Given the description of an element on the screen output the (x, y) to click on. 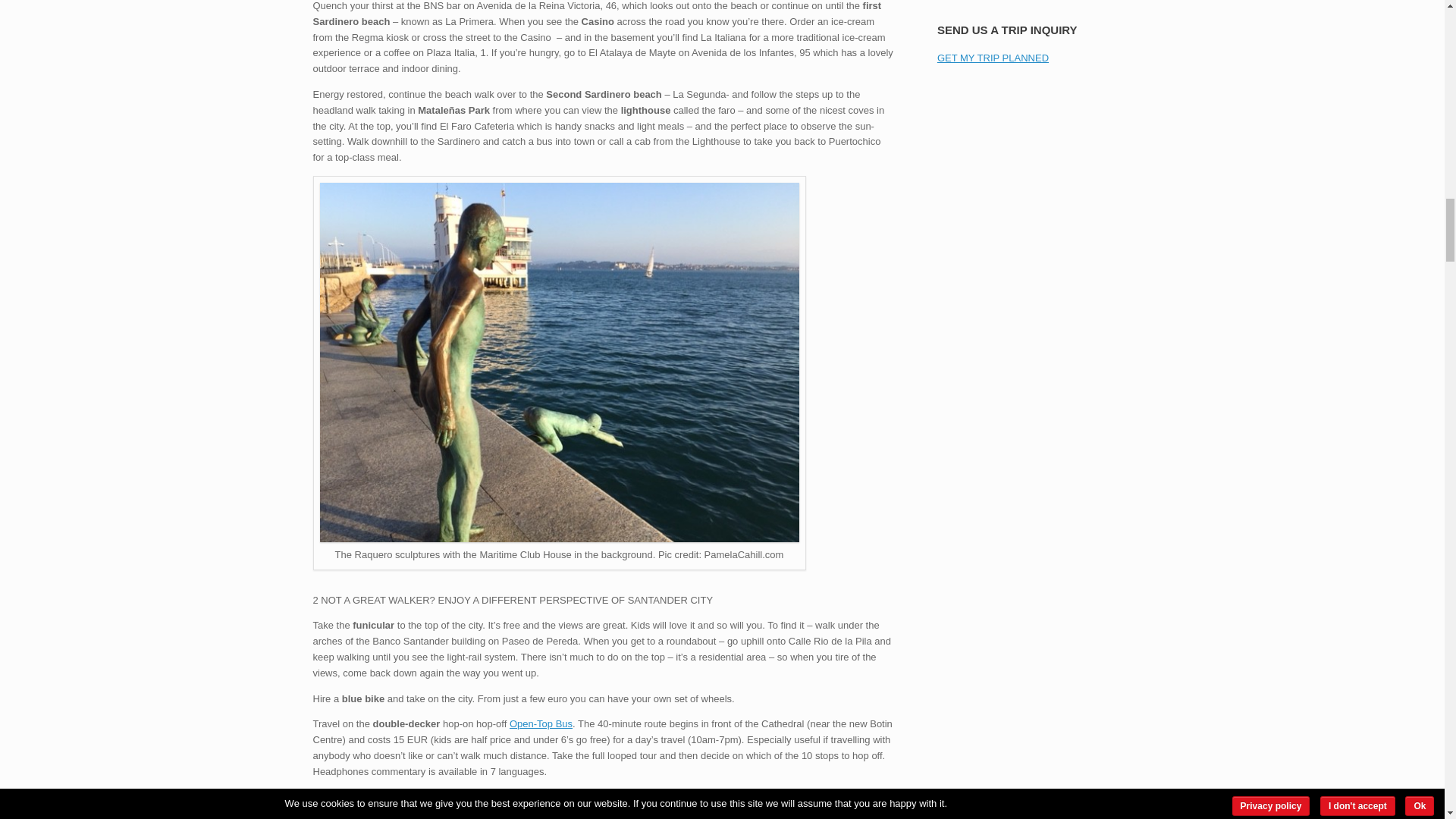
Santander City  (559, 538)
Open-Top Bus (540, 723)
